Given the description of an element on the screen output the (x, y) to click on. 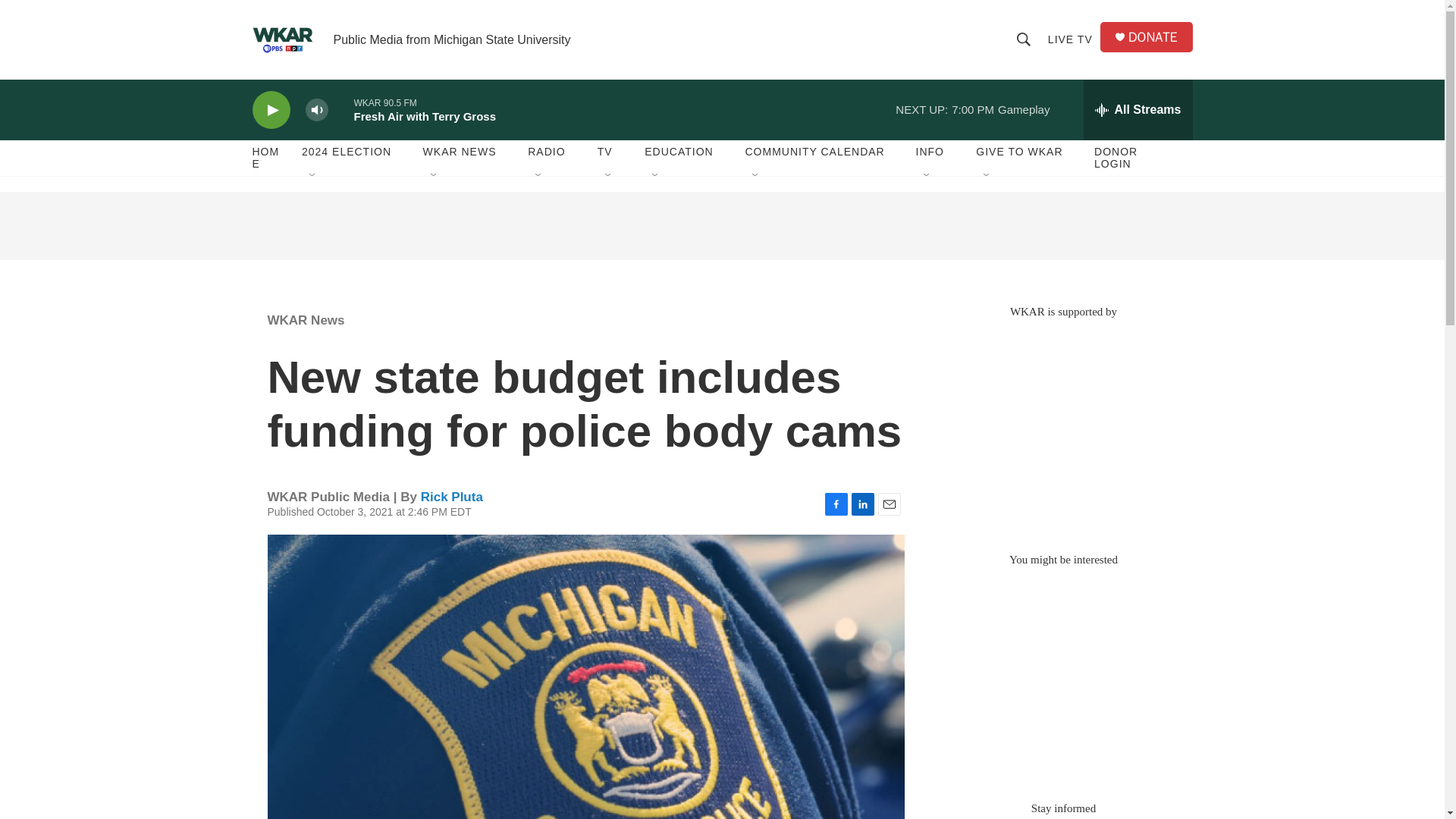
3rd party ad content (1062, 428)
3rd party ad content (1062, 677)
3rd party ad content (721, 225)
